Given the description of an element on the screen output the (x, y) to click on. 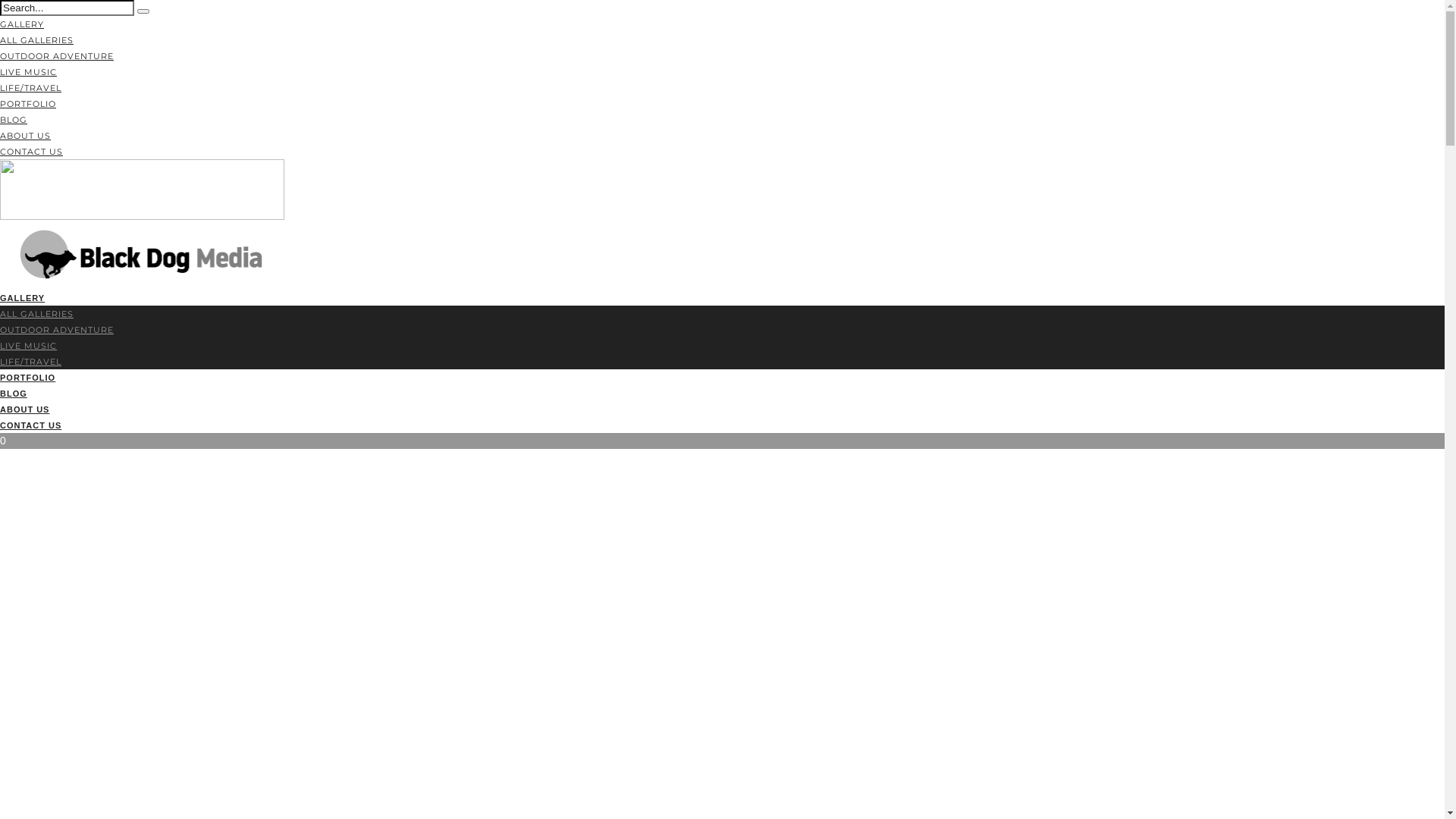
BLOG Element type: text (13, 119)
CONTACT US Element type: text (31, 151)
LIFE/TRAVEL Element type: text (30, 87)
ALL GALLERIES Element type: text (36, 39)
BLOG Element type: text (13, 393)
ABOUT US Element type: text (24, 409)
OUTDOOR ADVENTURE Element type: text (56, 329)
LIVE MUSIC Element type: text (28, 345)
CONTACT US Element type: text (30, 425)
GALLERY Element type: text (22, 297)
PORTFOLIO Element type: text (27, 377)
OUTDOOR ADVENTURE Element type: text (56, 55)
GALLERY Element type: text (21, 23)
LIVE MUSIC Element type: text (28, 71)
LIFE/TRAVEL Element type: text (30, 361)
ABOUT US Element type: text (25, 135)
PORTFOLIO Element type: text (28, 103)
ALL GALLERIES Element type: text (36, 313)
